Given the description of an element on the screen output the (x, y) to click on. 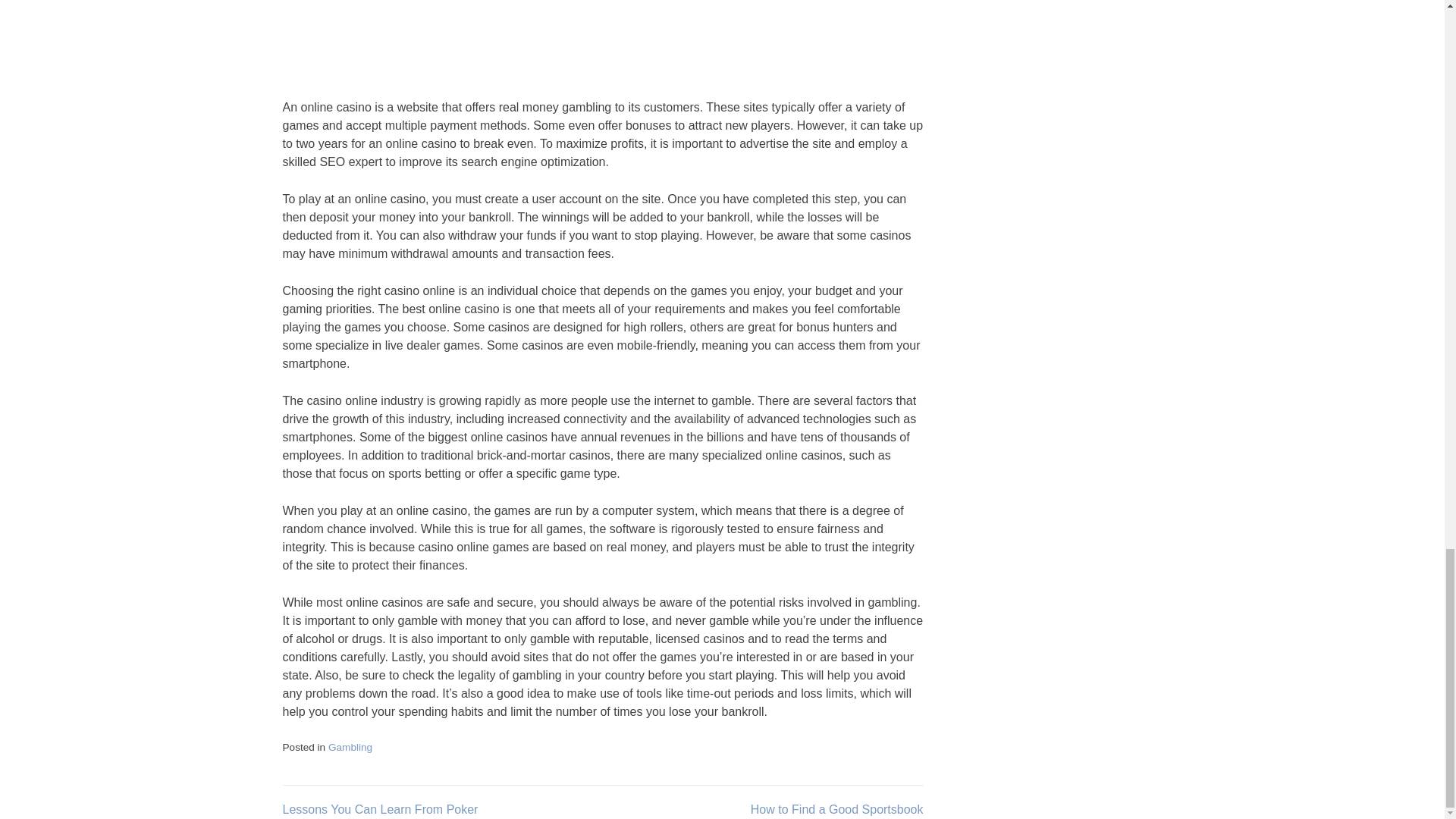
Lessons You Can Learn From Poker (379, 809)
Gambling (350, 747)
How to Find a Good Sportsbook (837, 809)
